Given the description of an element on the screen output the (x, y) to click on. 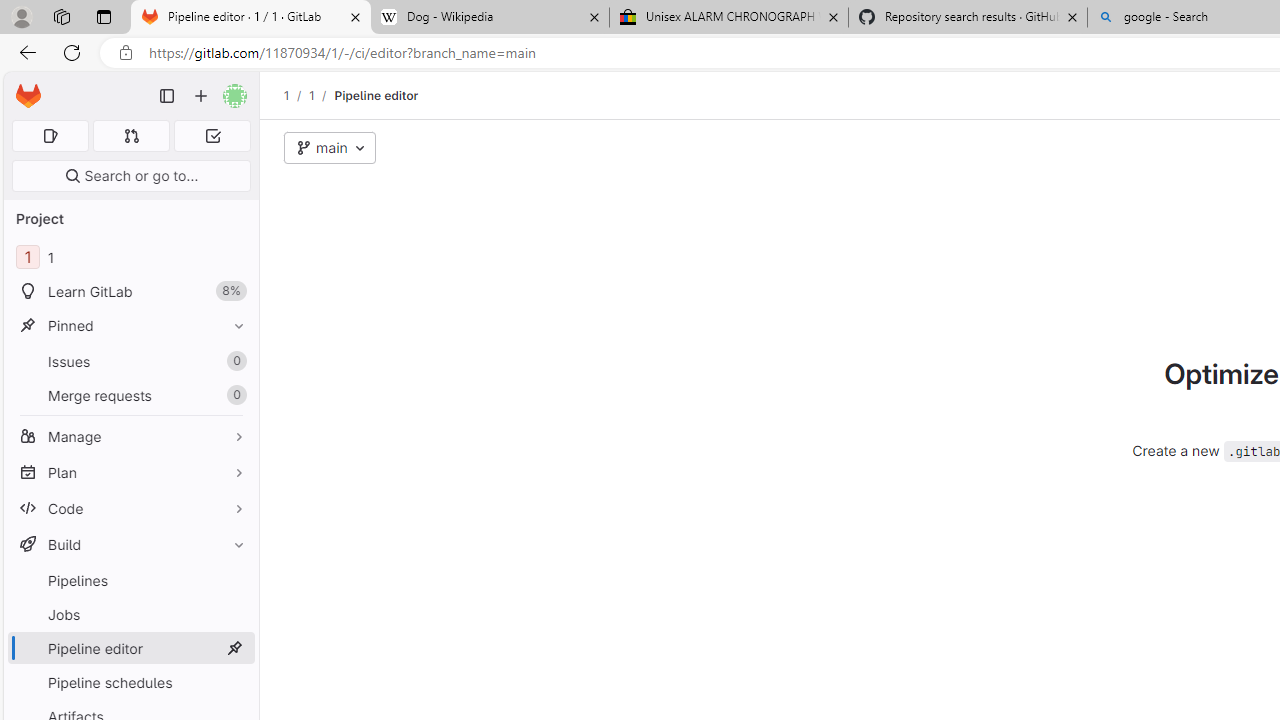
Merge requests 0 (131, 136)
Manage (130, 435)
Manage (130, 435)
11 (130, 257)
1/ (321, 95)
Learn GitLab8% (130, 291)
